Given the description of an element on the screen output the (x, y) to click on. 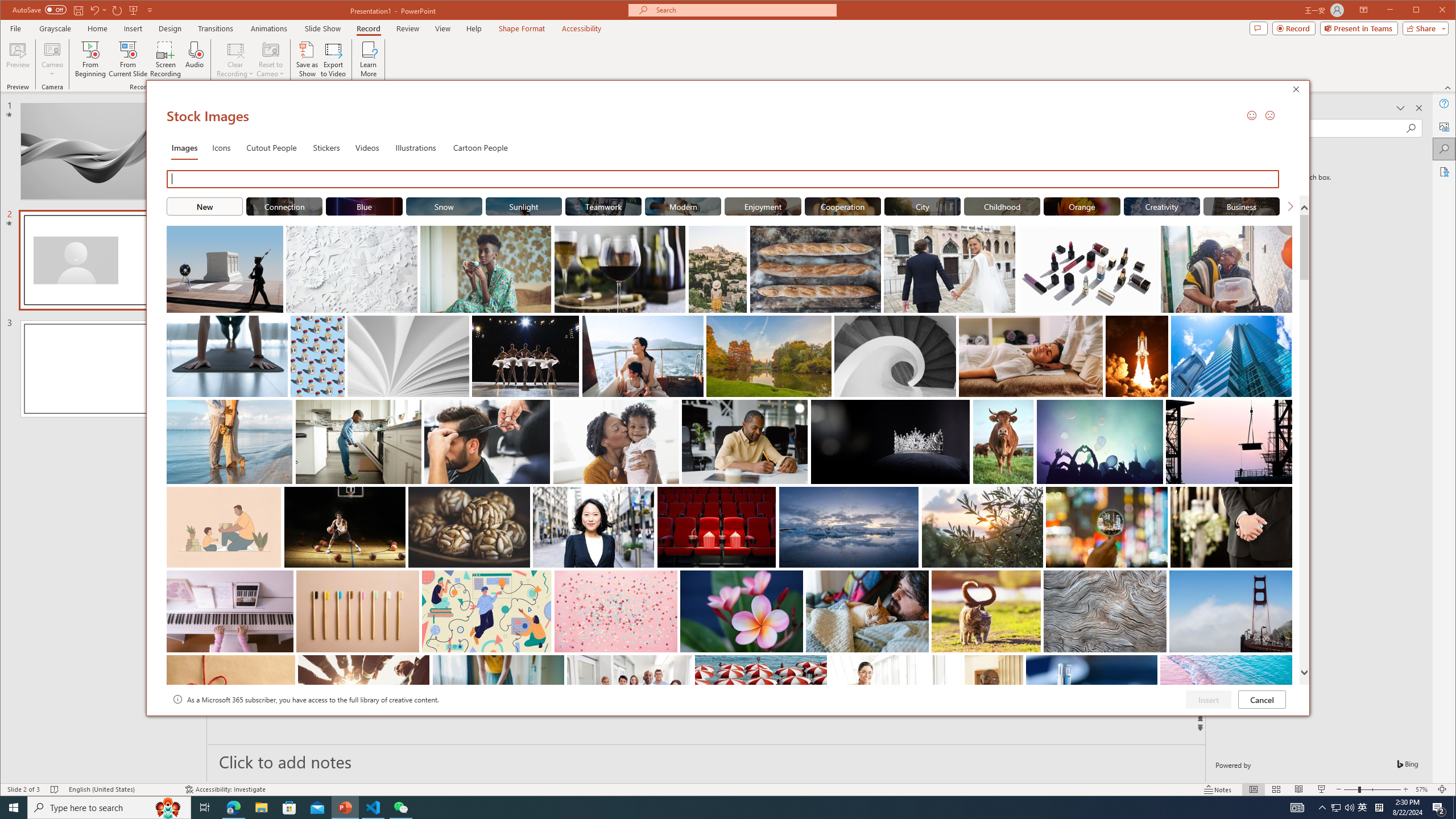
Grayscale (55, 28)
"City" Stock Images. (921, 206)
Microsoft Edge - 1 running window (233, 807)
Illustrations (415, 147)
